Given the description of an element on the screen output the (x, y) to click on. 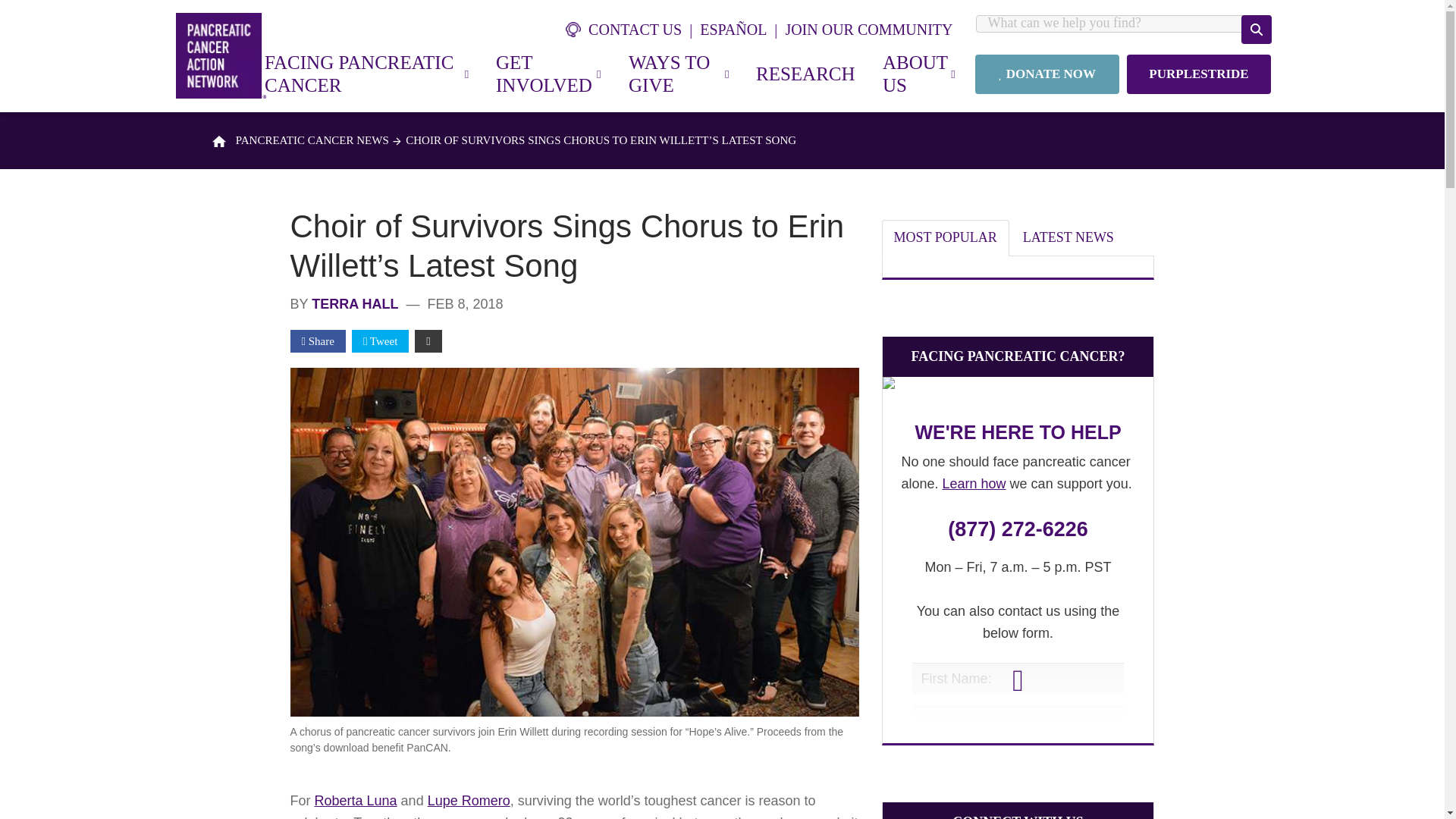
Pancan.org (221, 55)
GET INVOLVED  (547, 74)
FACING PANCREATIC CANCER  (366, 74)
  CONTACT US (633, 29)
Patient Services Case Manager (1018, 387)
Call Us, 877- 272-6226 (1017, 528)
JOIN OUR COMMUNITY (868, 29)
